Given the description of an element on the screen output the (x, y) to click on. 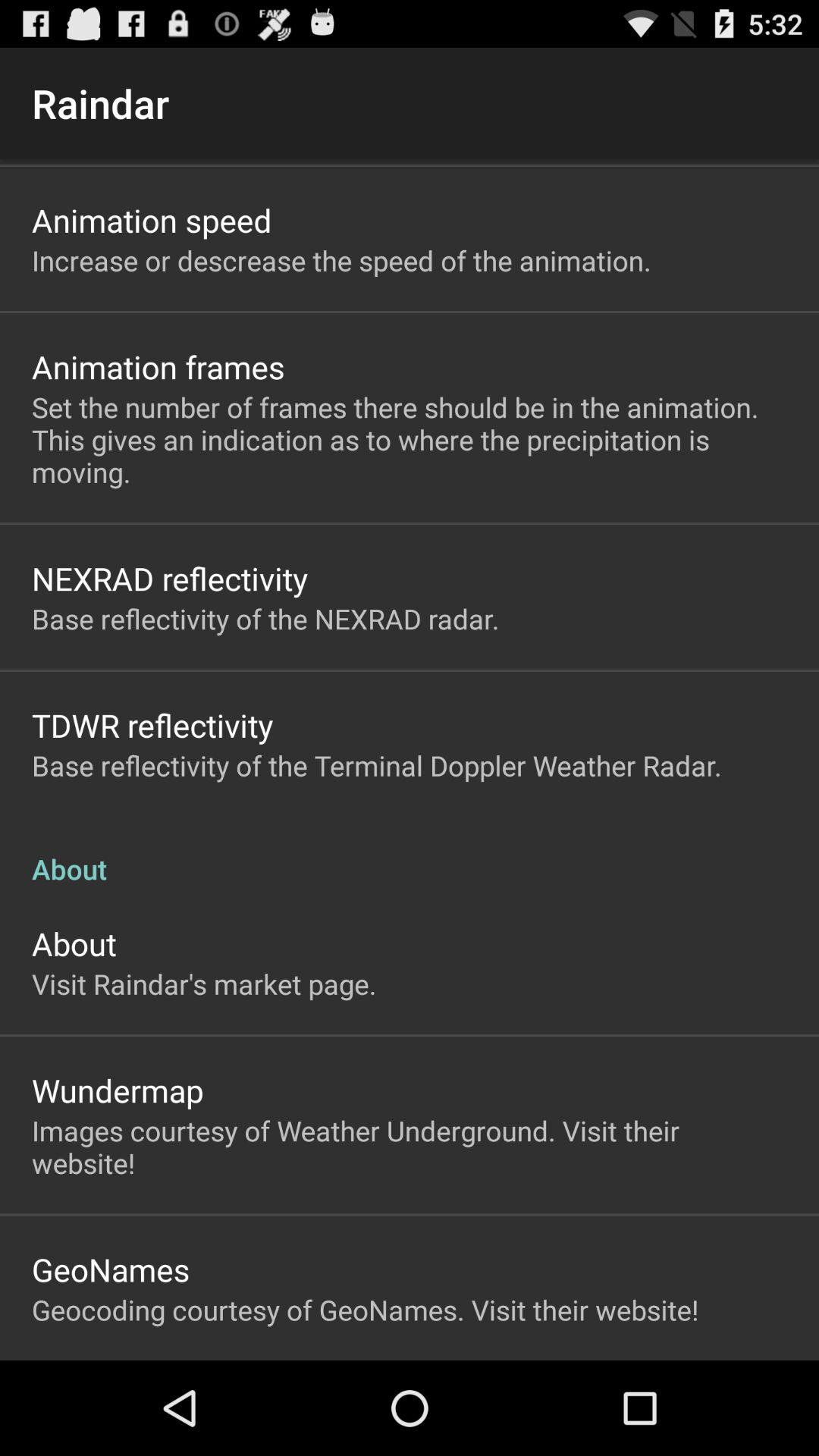
open the visit raindar s (203, 983)
